Given the description of an element on the screen output the (x, y) to click on. 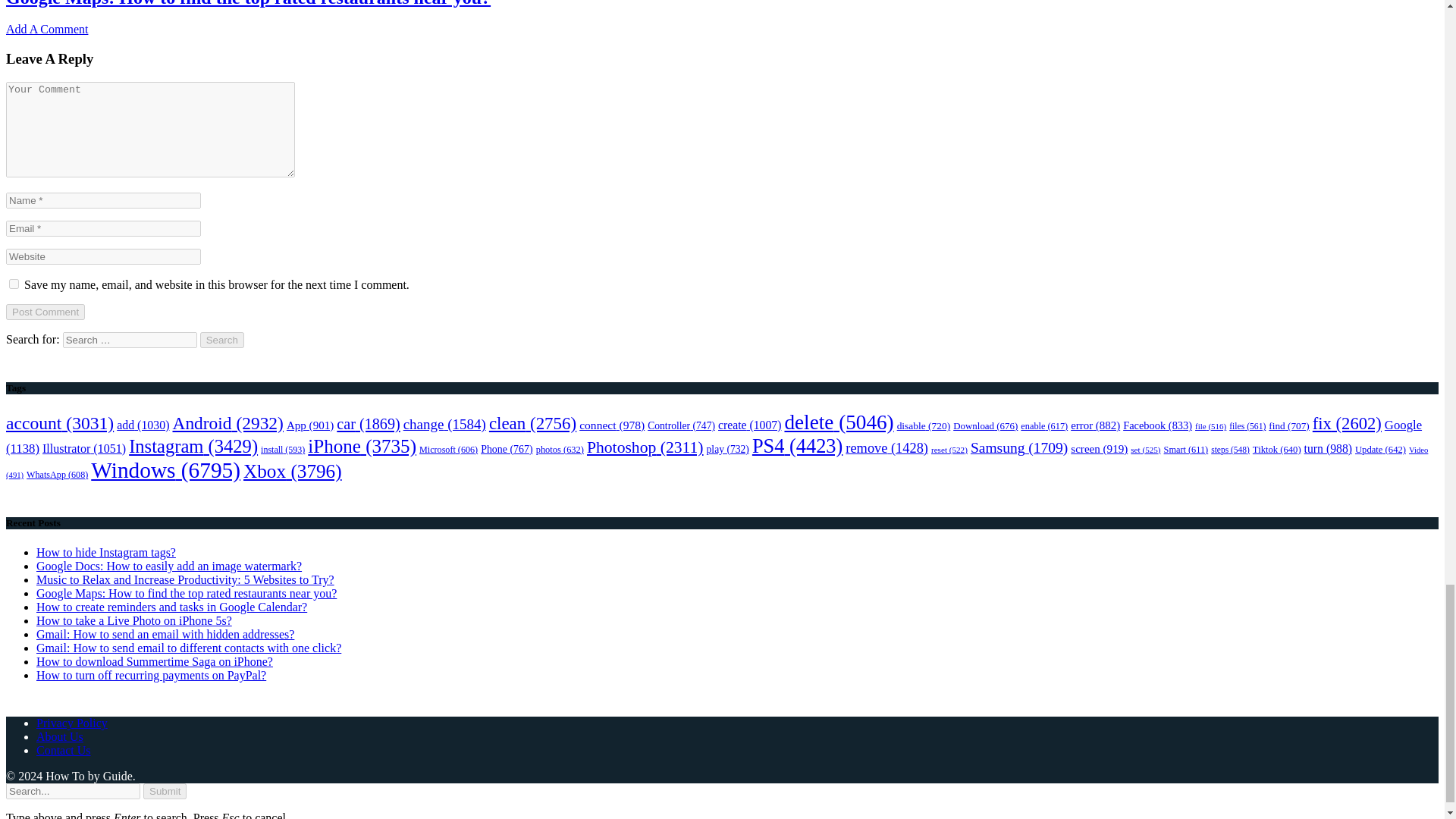
yes (13, 284)
Post Comment (44, 311)
Search (222, 340)
Search (222, 340)
